Given the description of an element on the screen output the (x, y) to click on. 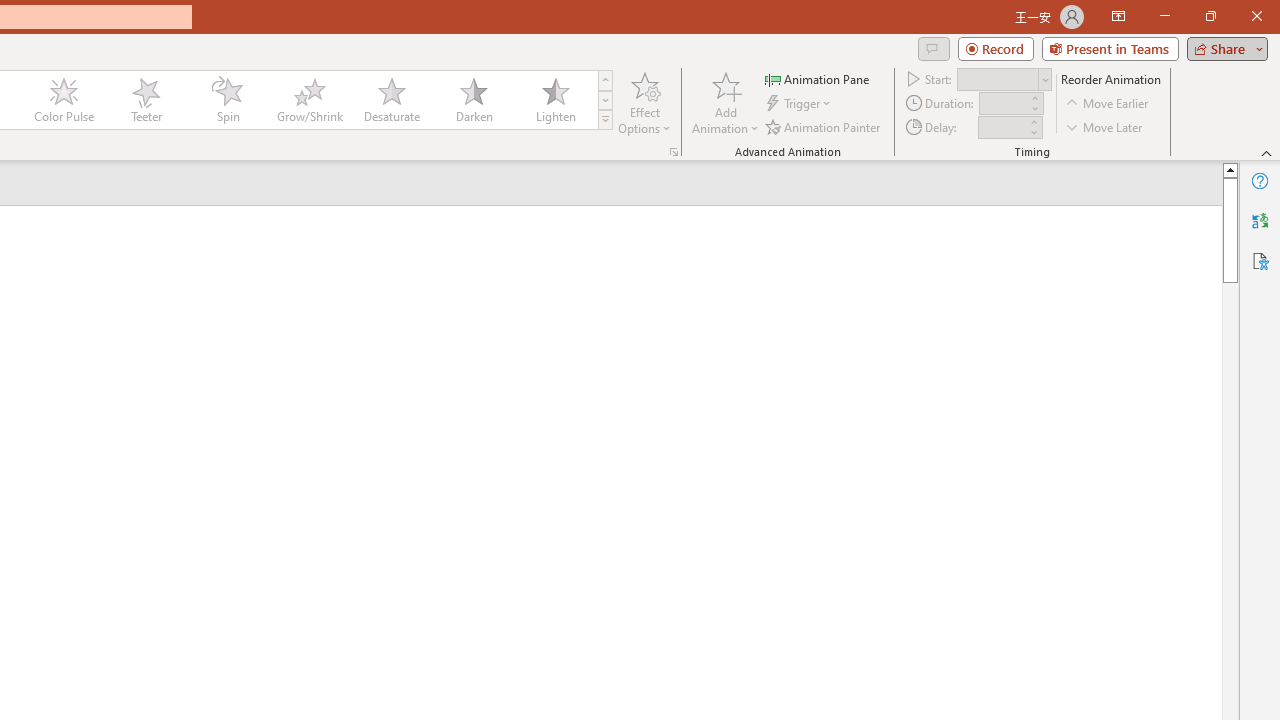
Animation Duration (1003, 103)
Grow/Shrink (309, 100)
Spin (227, 100)
Darken (473, 100)
Lighten (555, 100)
Desaturate (391, 100)
Animation Painter (824, 126)
